Given the description of an element on the screen output the (x, y) to click on. 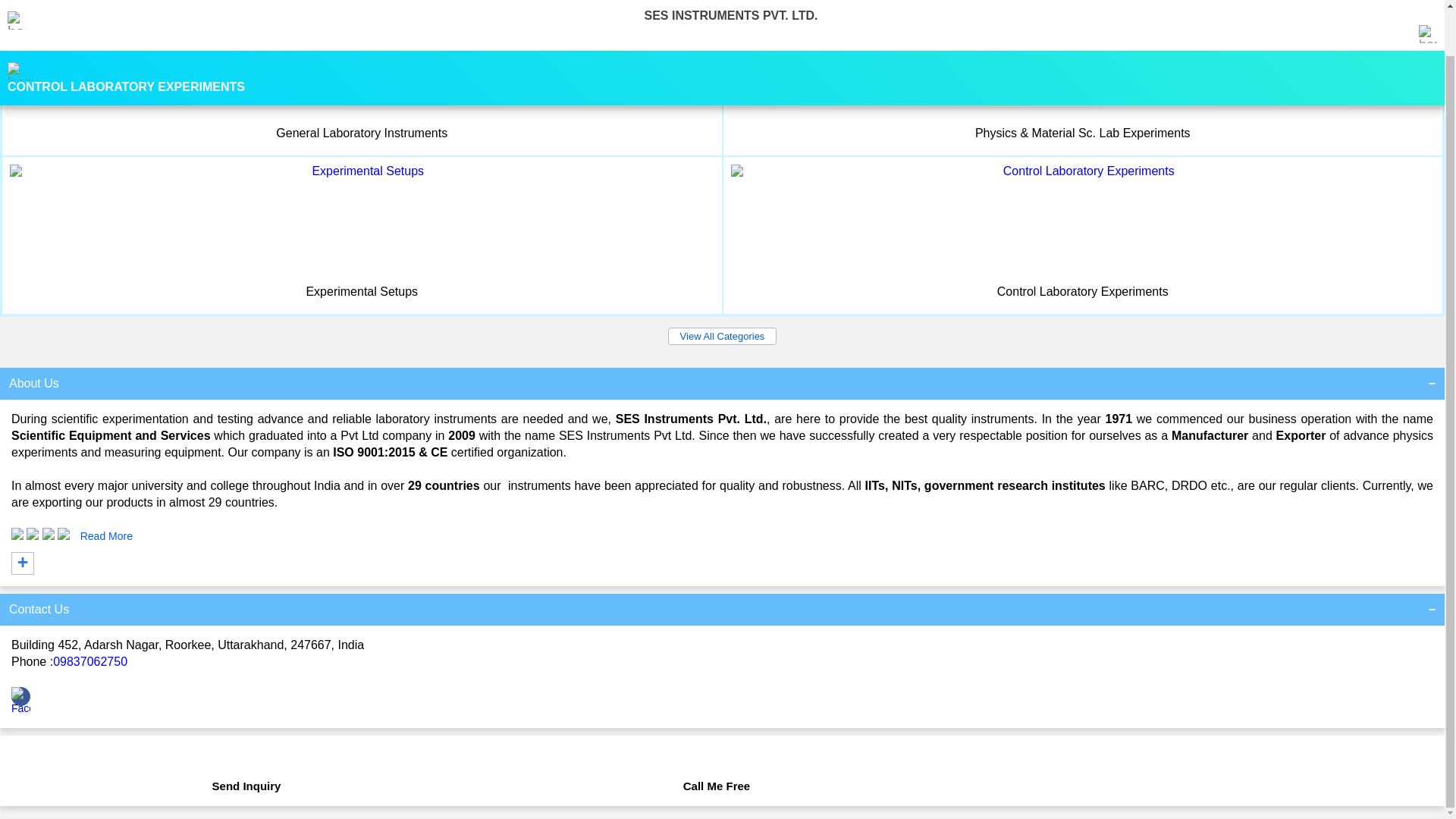
Experimental Setups (361, 291)
Read More (106, 535)
Facebook (20, 707)
09837062750 (90, 661)
Send Inquiry (246, 778)
Call Me Free (716, 778)
General Laboratory Instruments (361, 132)
View All Categories (722, 335)
Control Laboratory Experiments (1083, 291)
